Given the description of an element on the screen output the (x, y) to click on. 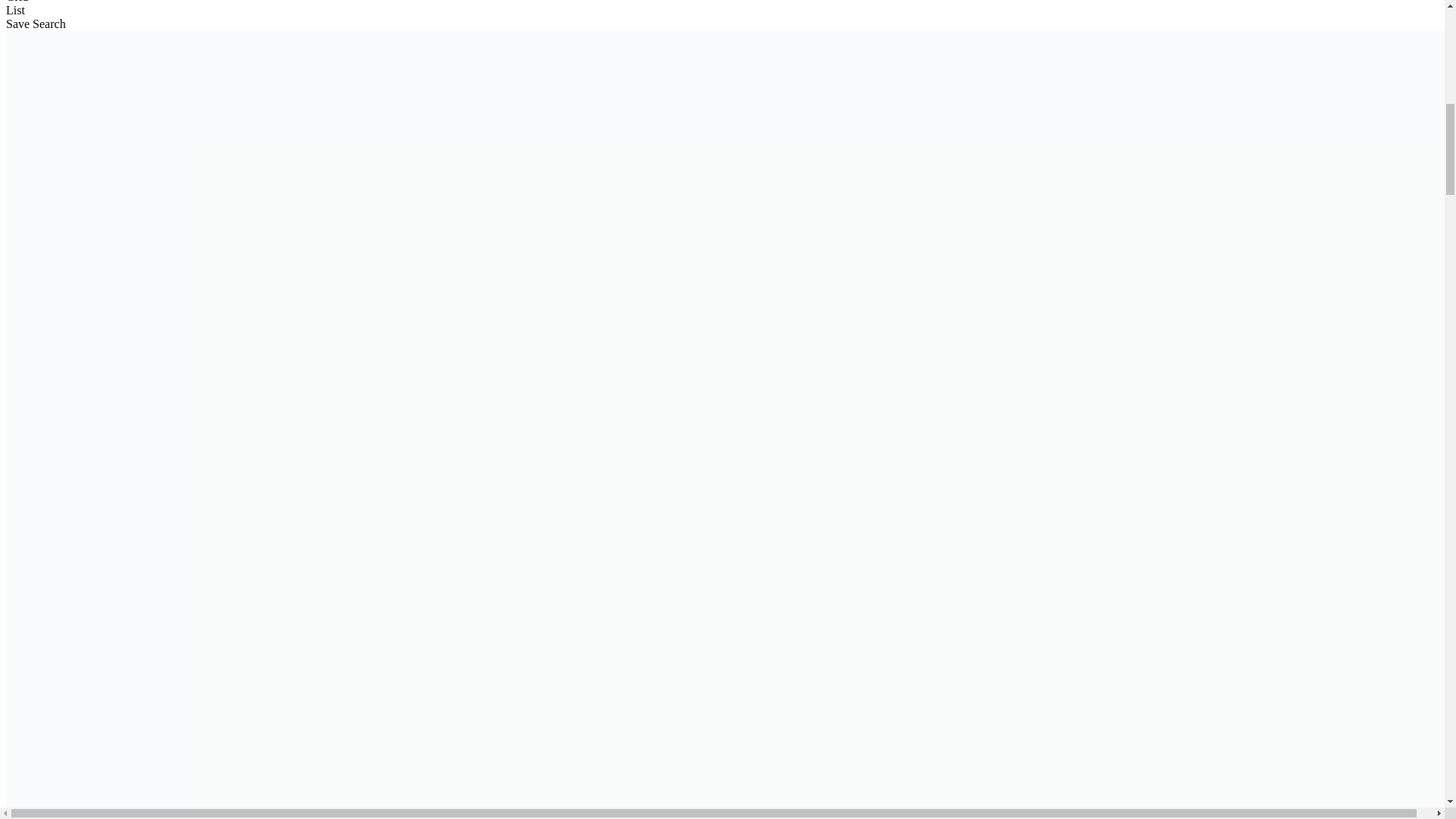
Save Search (35, 23)
